Given the description of an element on the screen output the (x, y) to click on. 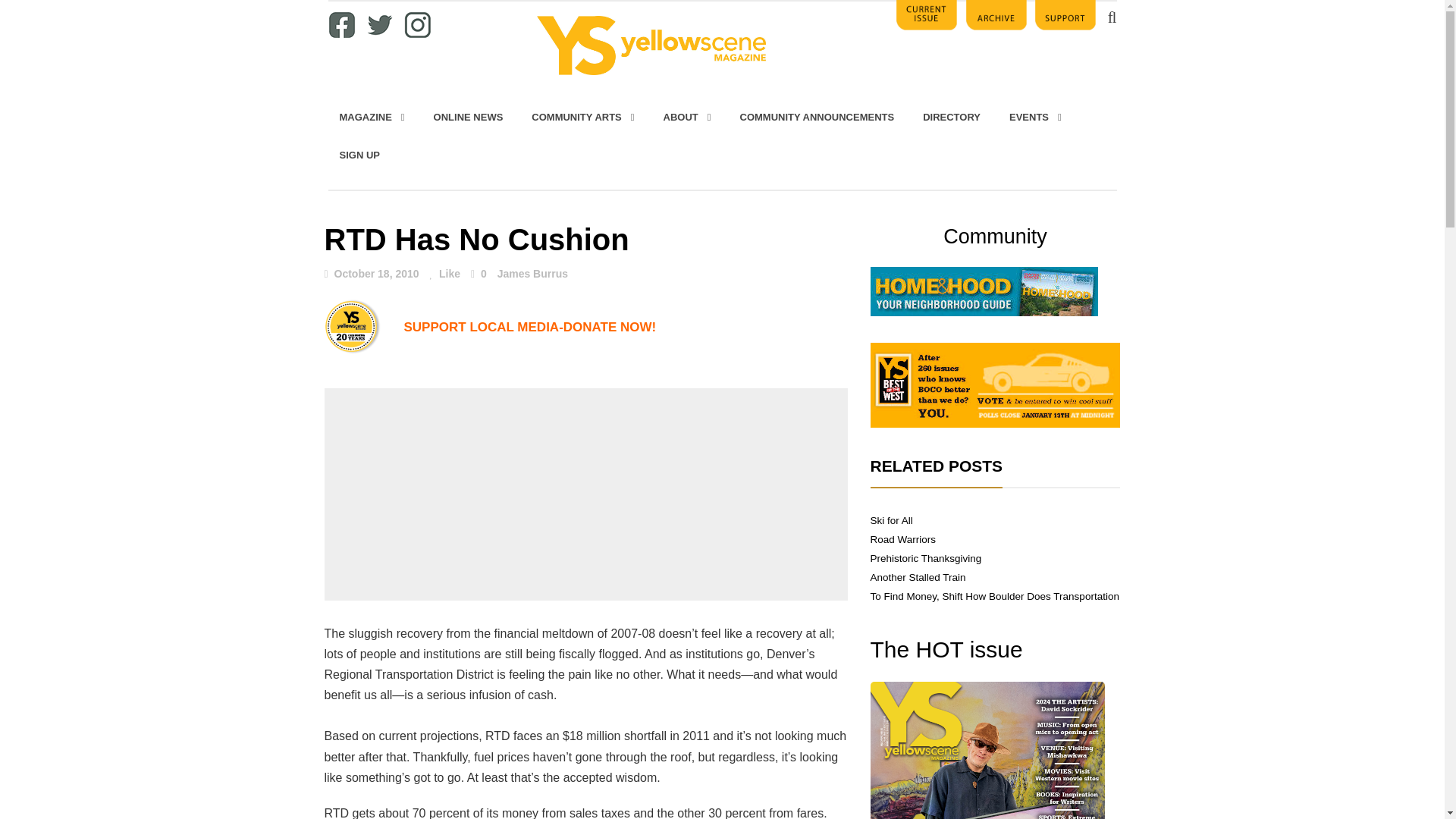
COMMUNITY ARTS (582, 117)
May 2024 (987, 750)
Advertisement (585, 494)
ABOUT (687, 117)
ONLINE NEWS (468, 117)
Like (444, 274)
MAGAZINE (370, 117)
Posts by James Burrus (532, 273)
COMMUNITY ANNOUNCEMENTS (816, 117)
